Given the description of an element on the screen output the (x, y) to click on. 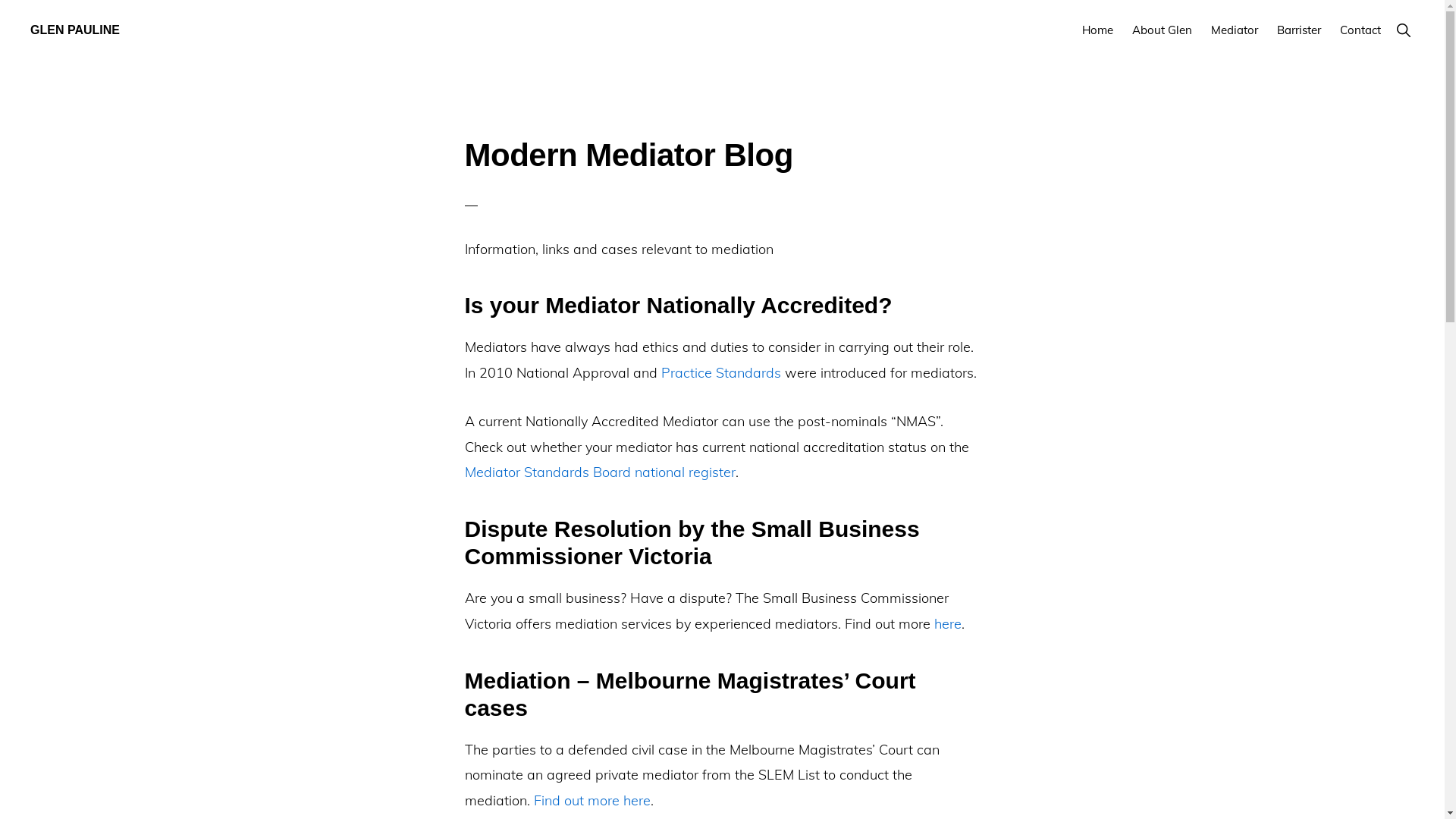
Show Search Element type: text (1403, 29)
About Glen Element type: text (1161, 29)
Barrister Element type: text (1298, 29)
here Element type: text (947, 623)
GLEN PAULINE Element type: text (74, 29)
Home Element type: text (1097, 29)
Mediator Standards Board national register Element type: text (599, 471)
Mediator Element type: text (1234, 29)
Find out more here Element type: text (591, 800)
Practice Standards Element type: text (721, 372)
Skip to primary navigation Element type: text (0, 0)
Contact Element type: text (1360, 29)
